Given the description of an element on the screen output the (x, y) to click on. 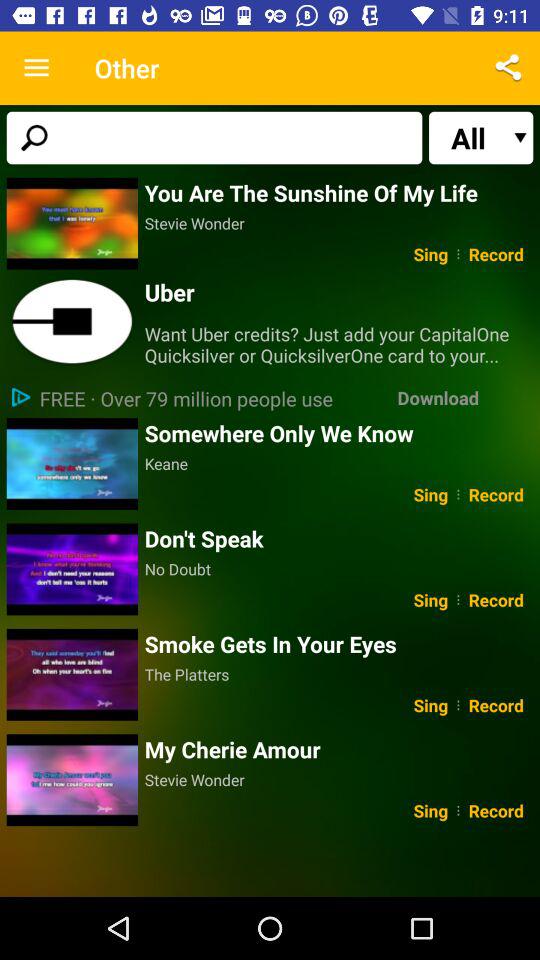
select item above stevie wonder  item (338, 749)
